Given the description of an element on the screen output the (x, y) to click on. 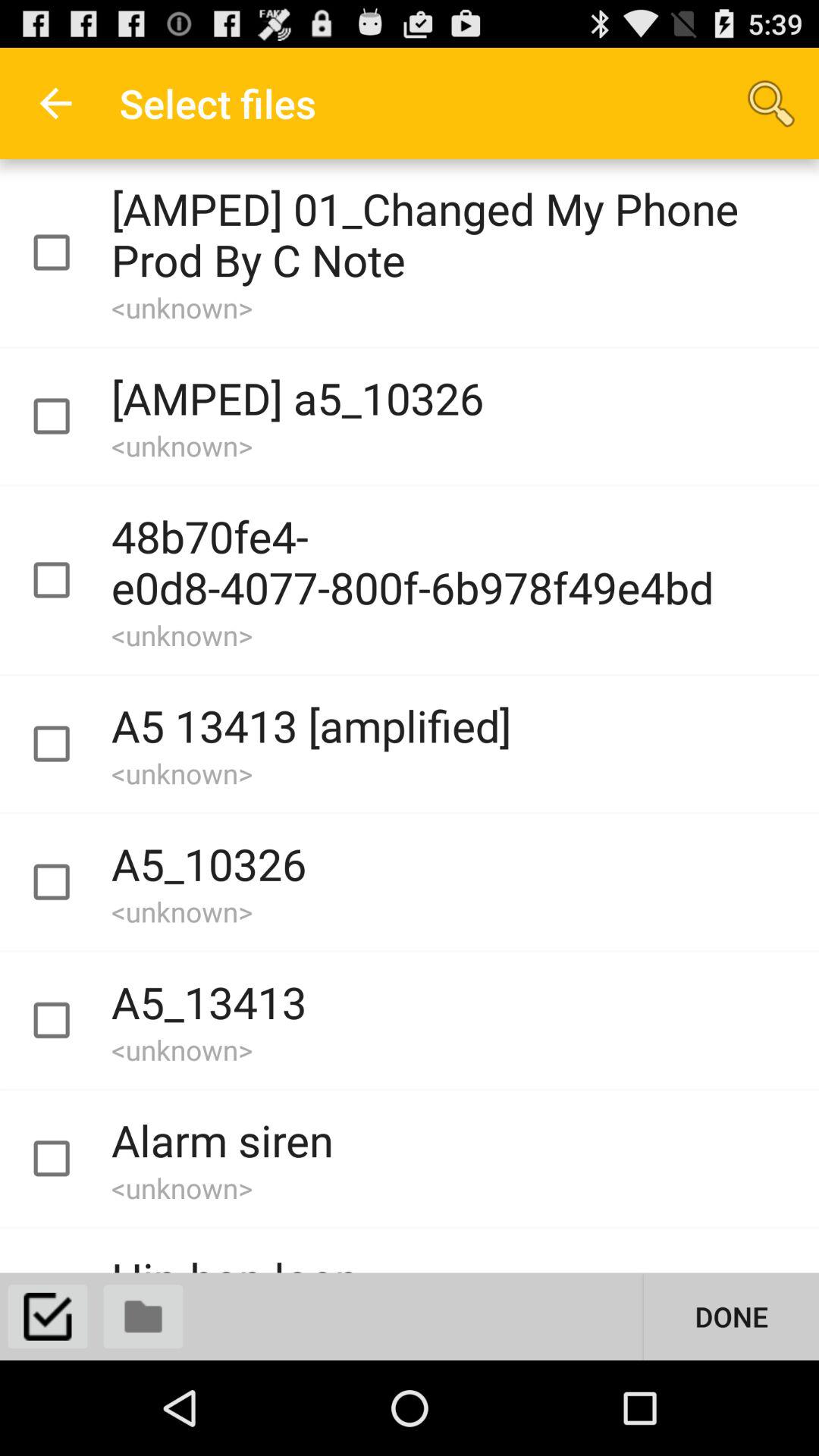
toggle files (143, 1316)
